Given the description of an element on the screen output the (x, y) to click on. 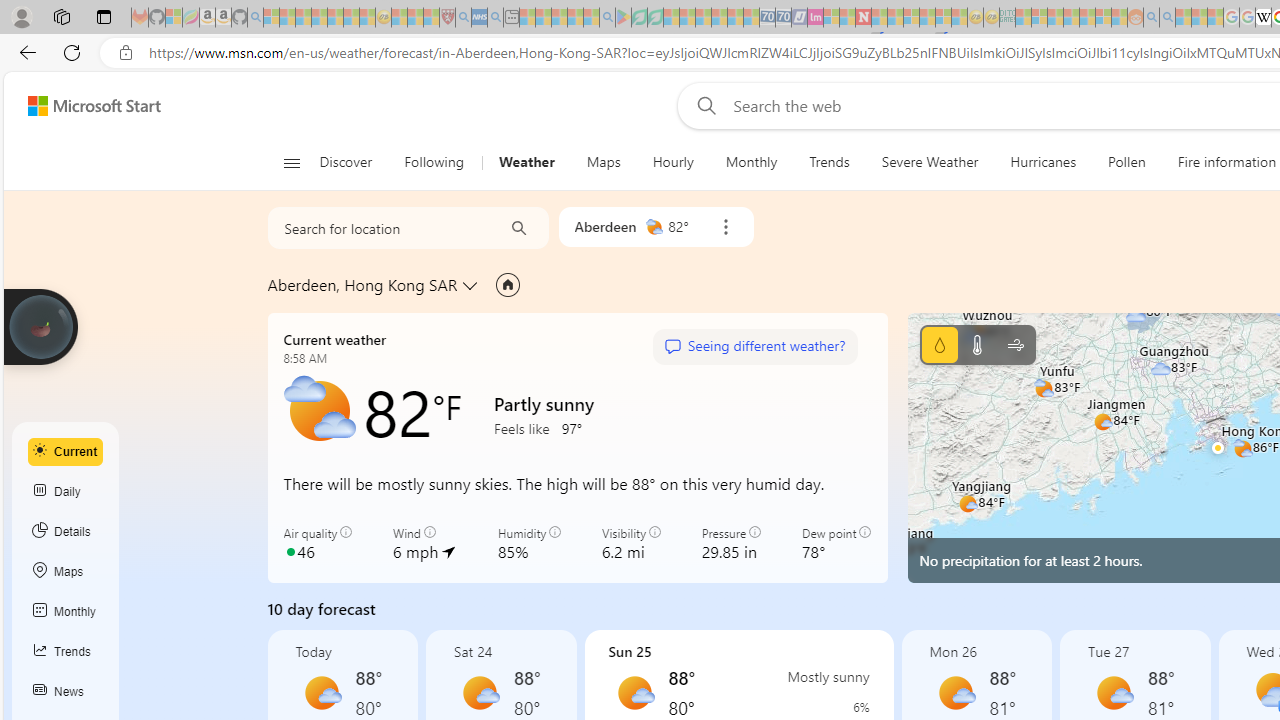
Set as primary location (508, 284)
Kinda Frugal - MSN - Sleeping (1087, 17)
Monthly (751, 162)
Pets - MSN - Sleeping (575, 17)
Pollen (1126, 162)
Bluey: Let's Play! - Apps on Google Play - Sleeping (623, 17)
